Given the description of an element on the screen output the (x, y) to click on. 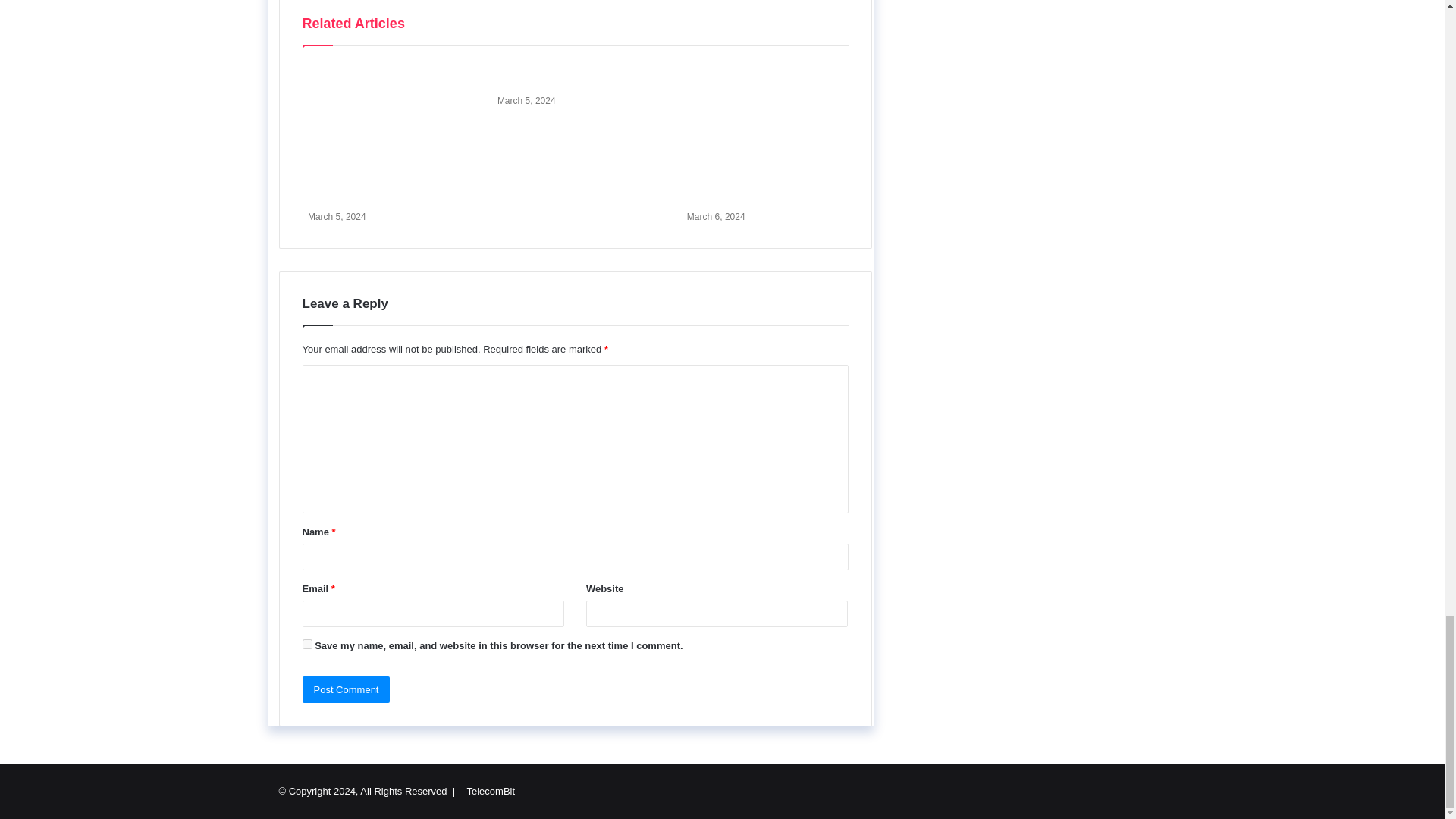
yes (306, 644)
Post Comment (345, 689)
